Given the description of an element on the screen output the (x, y) to click on. 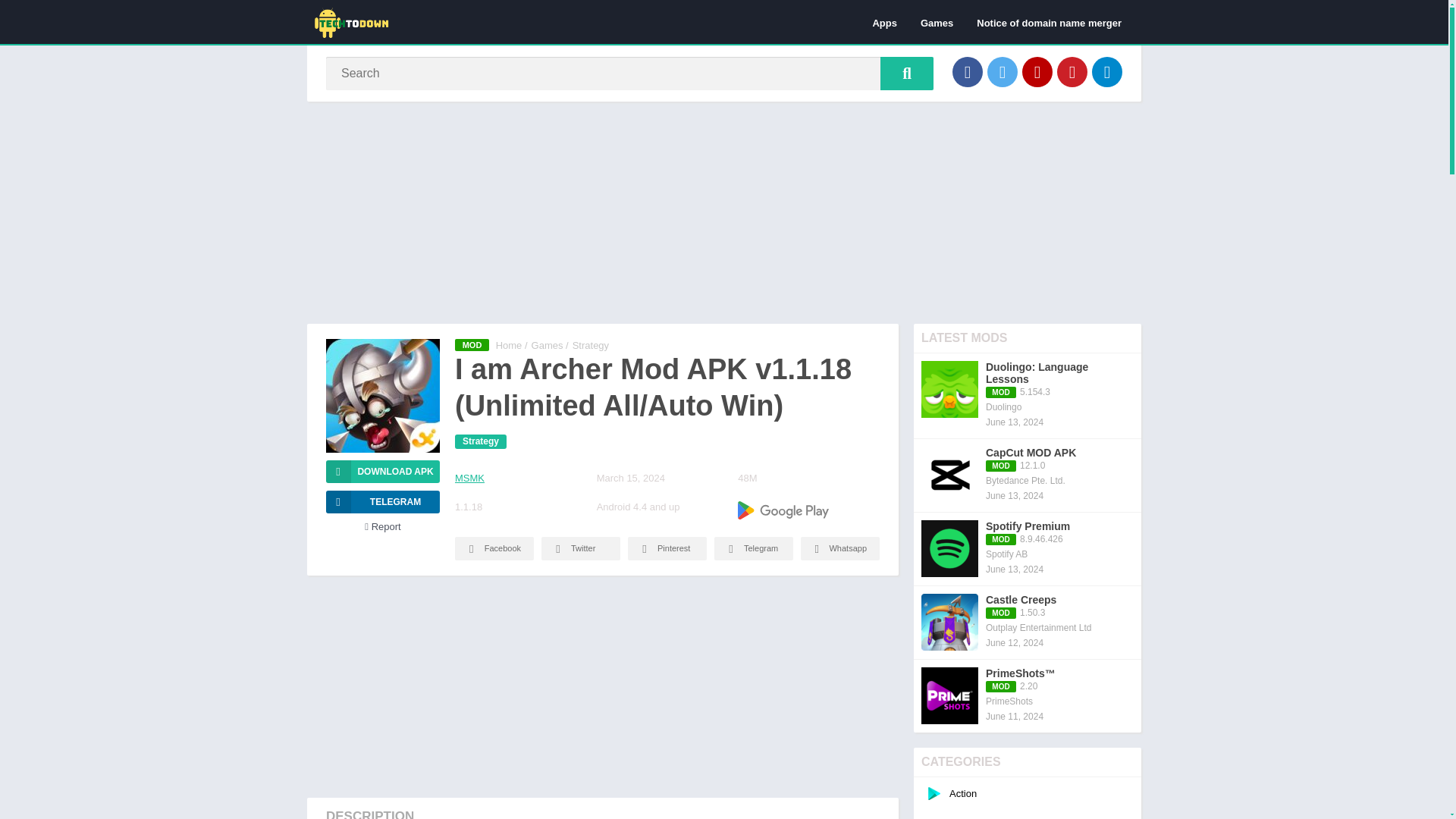
Telegram (753, 548)
Download APK (382, 471)
Strategy (590, 345)
Strategy (480, 441)
TELEGRAM (382, 501)
MSMK (469, 478)
Whatsapp (839, 548)
Telegram (1107, 71)
techtodown.net (509, 345)
DOWNLOAD APK (382, 471)
Games (935, 22)
YouTube (1037, 71)
Notice of domain name merger (1048, 22)
Advertisement (602, 685)
Search (906, 73)
